Given the description of an element on the screen output the (x, y) to click on. 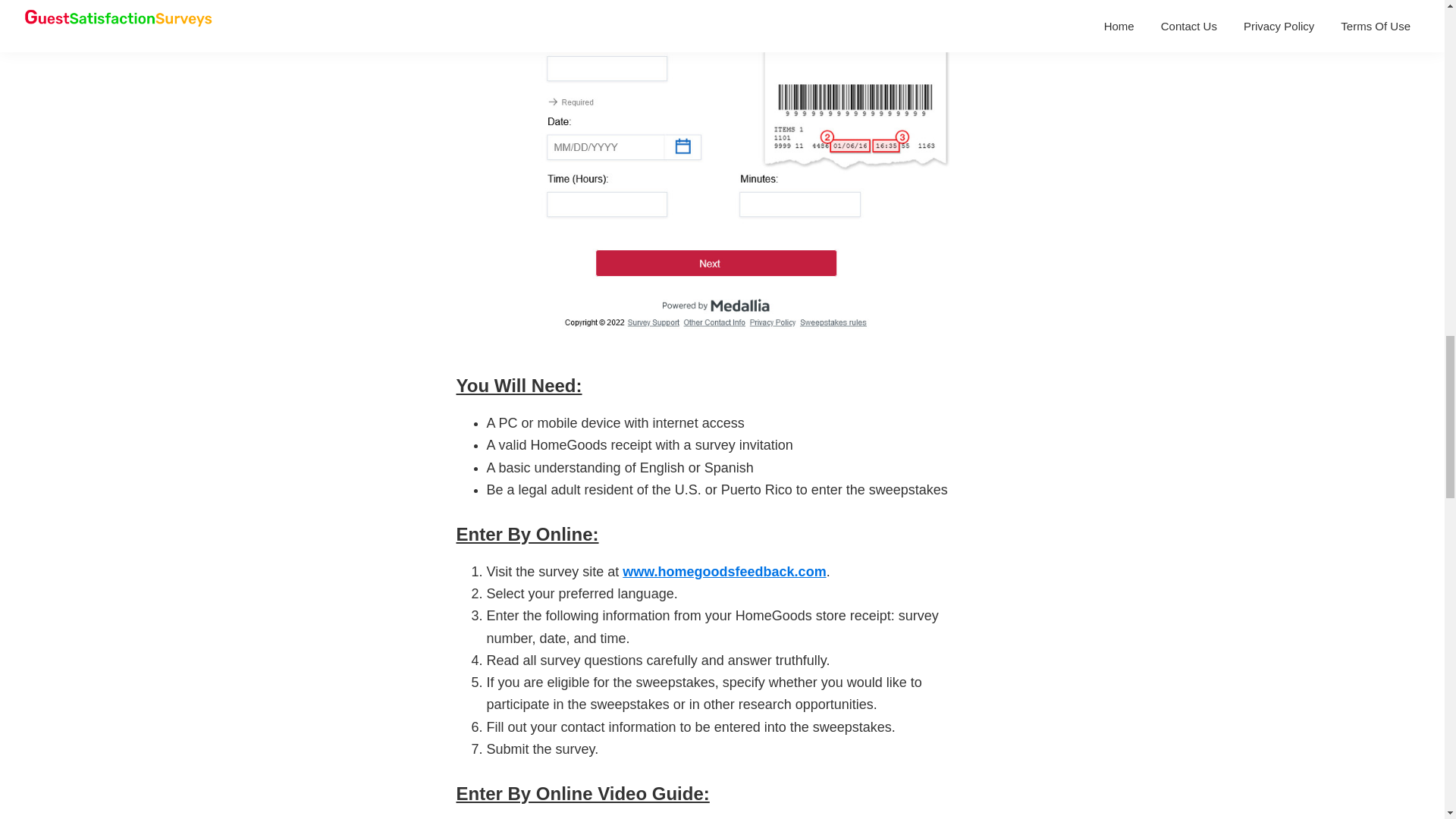
www.homegoodsfeedback.com (724, 571)
